Given the description of an element on the screen output the (x, y) to click on. 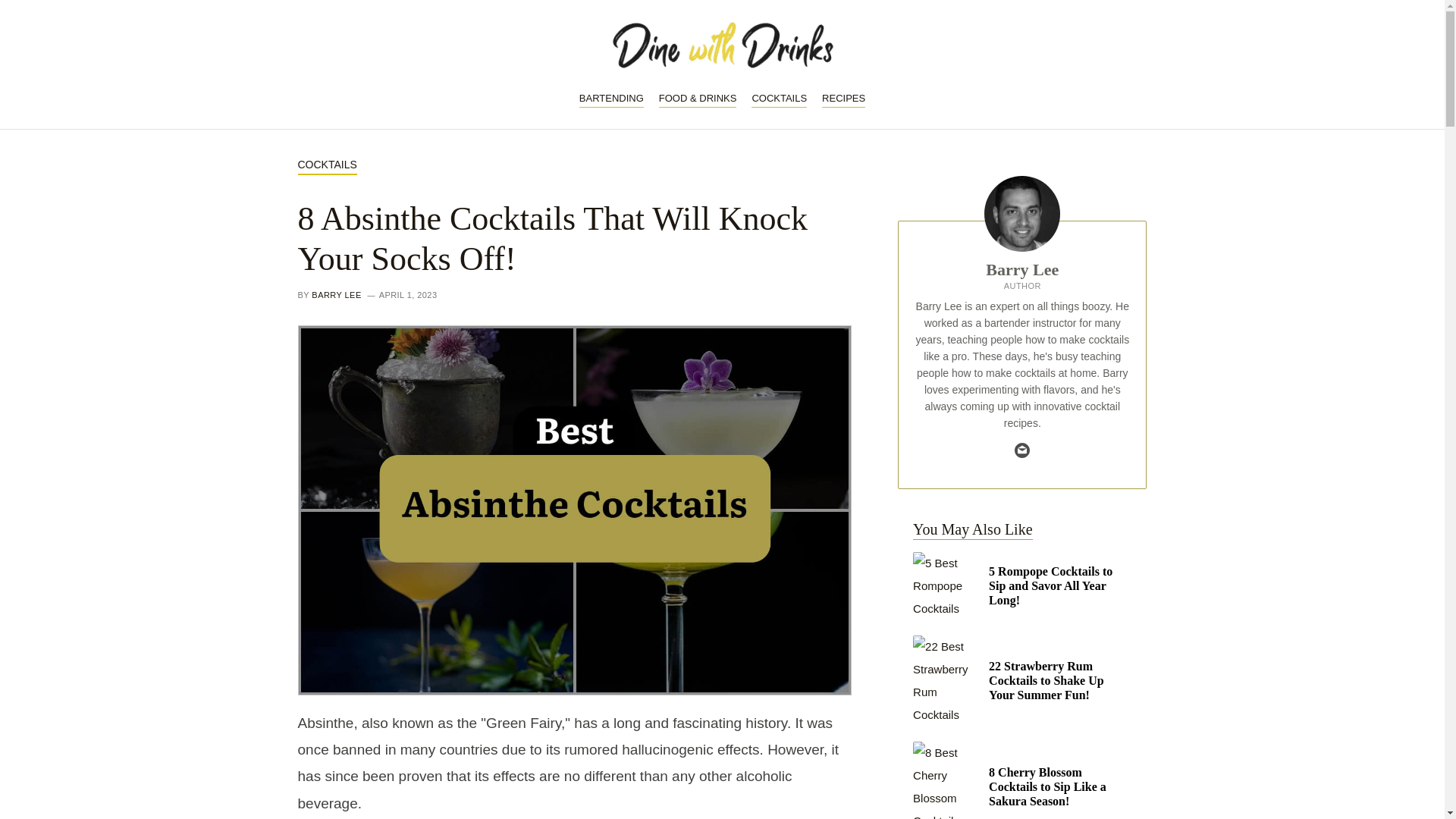
COCKTAILS (326, 165)
5 Rompope Cocktails to Sip and Savor All Year Long! (1021, 585)
BARTENDING (611, 98)
8 Cherry Blossom Cocktails to Sip Like a Sakura Season! (1021, 780)
22 Strawberry Rum Cocktails to Shake Up Your Summer Fun! (1021, 680)
5 Rompope Cocktails To Sip And Savor All Year Long! (946, 585)
RECIPES (843, 98)
BARRY LEE (336, 294)
Barry Lee (1021, 269)
COCKTAILS (778, 98)
